Given the description of an element on the screen output the (x, y) to click on. 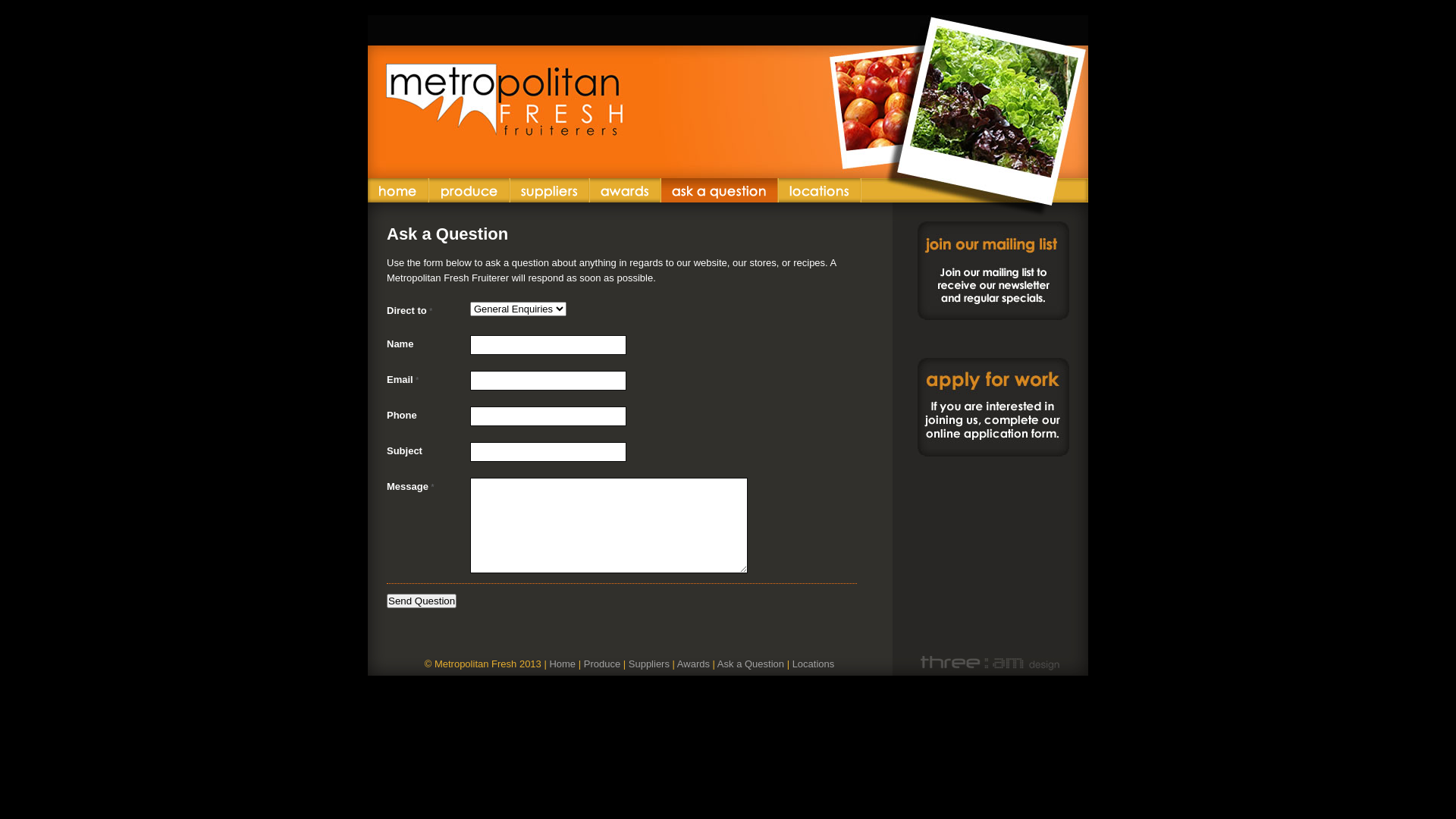
Ask a Question Element type: text (750, 663)
Produce Element type: text (601, 663)
Locations Element type: text (813, 663)
Home Element type: text (398, 190)
Metropolitan Fresh Fruiterers Element type: text (727, 96)
Awards Element type: text (693, 663)
Home Element type: text (562, 663)
Suppliers Element type: text (549, 190)
Ask a Question Element type: text (719, 190)
Locations Element type: text (819, 190)
Send Question Element type: text (421, 600)
Awards Element type: text (625, 190)
Suppliers Element type: text (648, 663)
Produce Element type: text (469, 190)
Website by three am design Element type: text (997, 663)
